Given the description of an element on the screen output the (x, y) to click on. 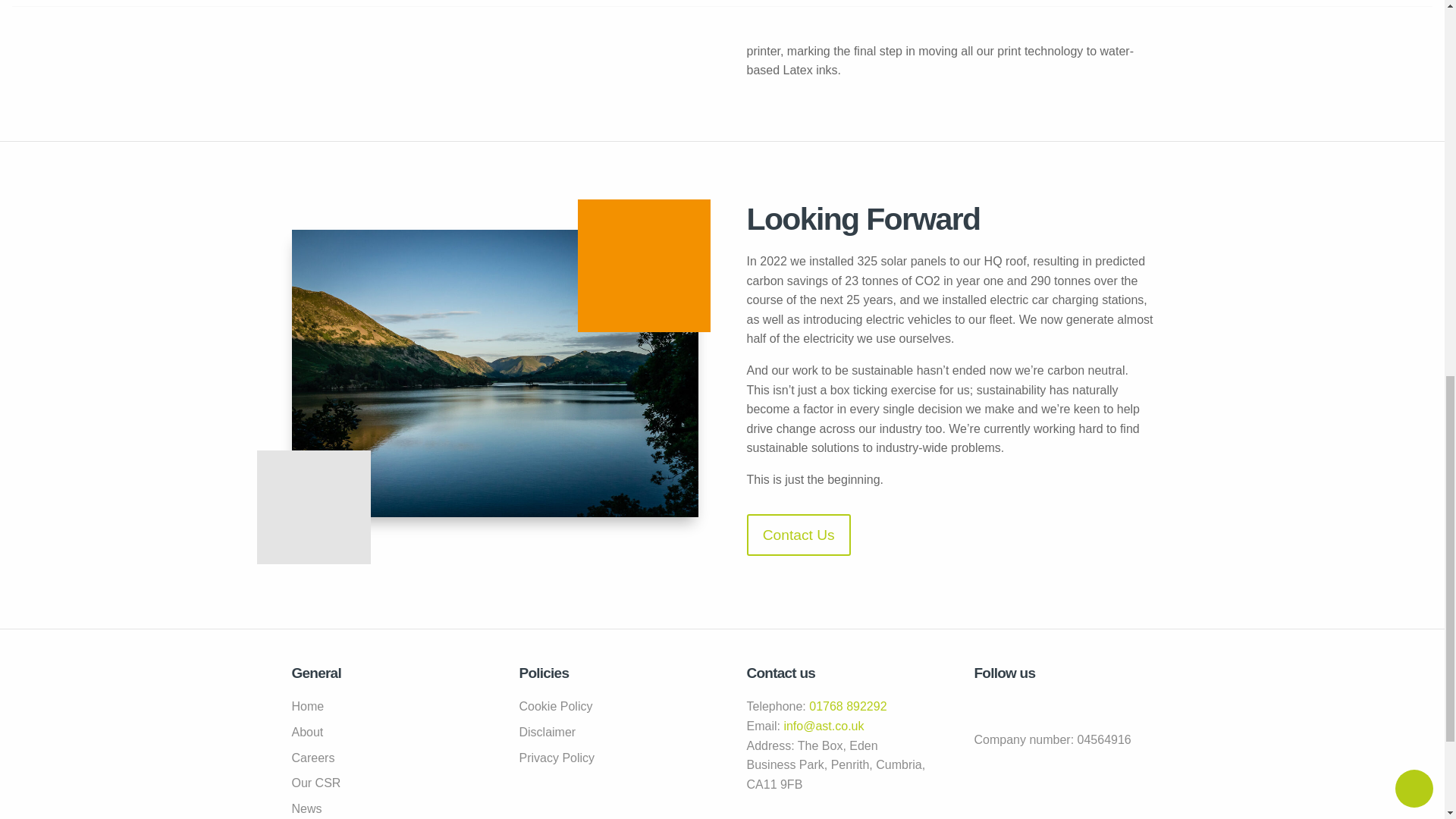
Our CSR (380, 783)
About (380, 732)
Disclaimer (607, 732)
01768 892292 (847, 706)
Contact Us (797, 535)
Home (380, 706)
Careers (380, 758)
Privacy Policy (607, 758)
News (380, 809)
Cookie Policy (607, 706)
